Given the description of an element on the screen output the (x, y) to click on. 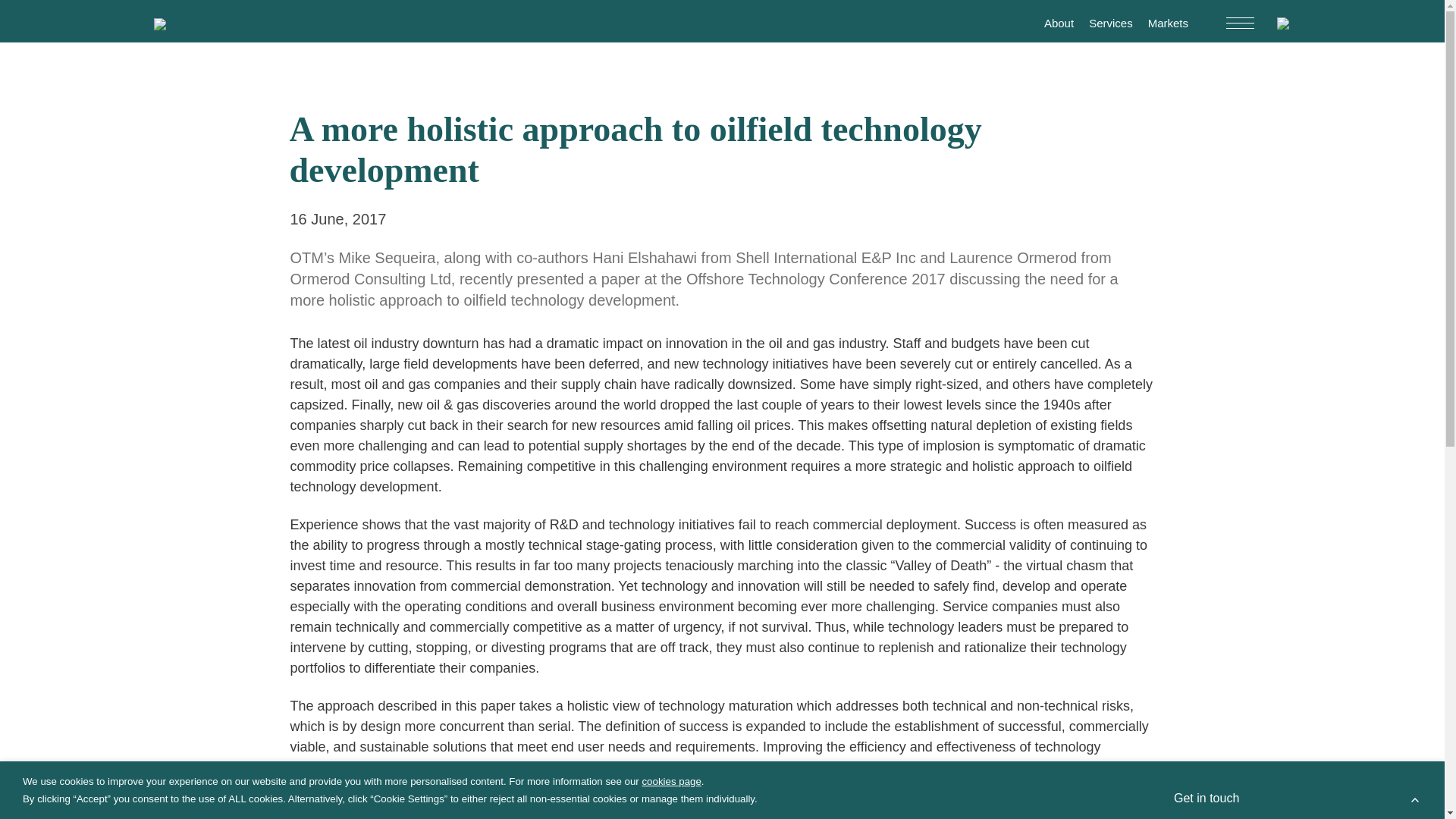
Services (1110, 22)
Frontier Smart Technologies (359, 699)
Science Group (334, 609)
London, UK (1121, 633)
CMS2 (529, 699)
About (307, 630)
Services (363, 630)
Washington DC, USA (1098, 648)
TP Group (470, 699)
Markets (423, 630)
Science Group (354, 664)
Great Burgh, UK (1033, 633)
Markets (1168, 22)
About (1058, 22)
OnePetro (1116, 818)
